Given the description of an element on the screen output the (x, y) to click on. 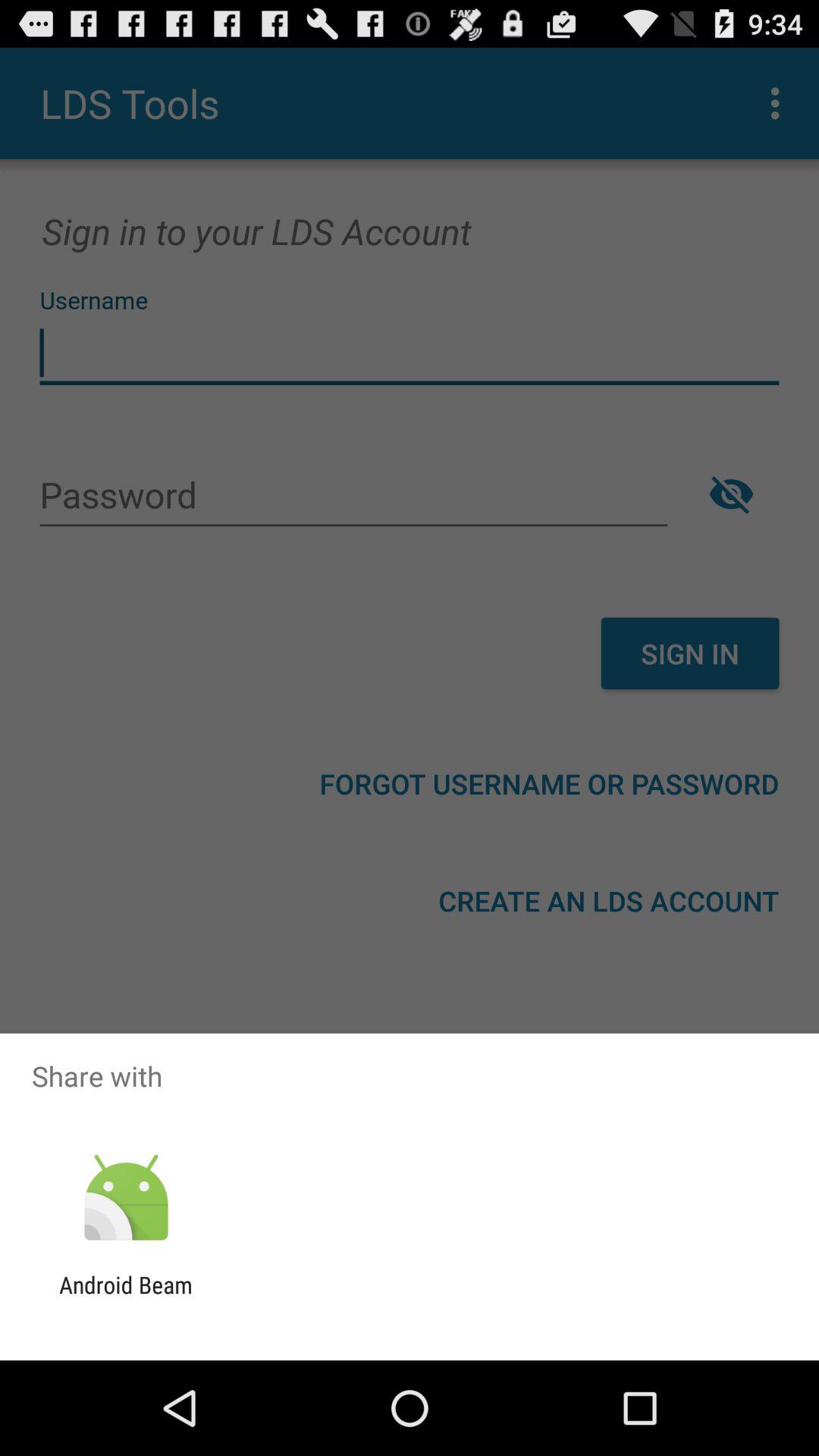
click icon above the android beam (126, 1198)
